Given the description of an element on the screen output the (x, y) to click on. 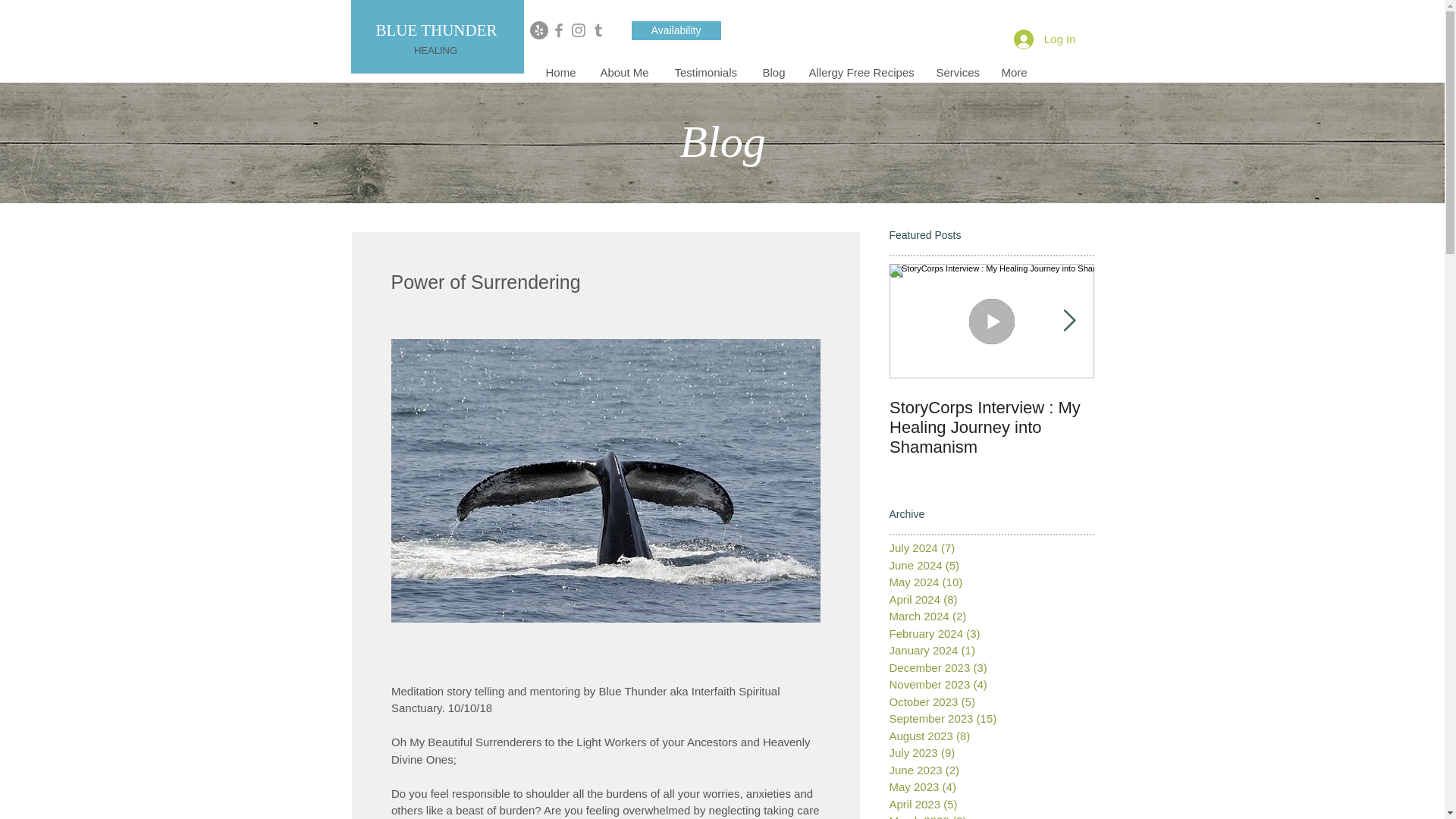
Log In (1044, 38)
Availability (675, 30)
Services (957, 72)
Allergy Free Recipes (860, 72)
Testimonials (706, 72)
BLUE THUNDER (435, 30)
Blog (773, 72)
Goddess Message from Minerva: Your Beliefs (1195, 417)
Home (561, 72)
About Me (625, 72)
StoryCorps Interview : My Healing Journey into Shamanism (990, 427)
